Given the description of an element on the screen output the (x, y) to click on. 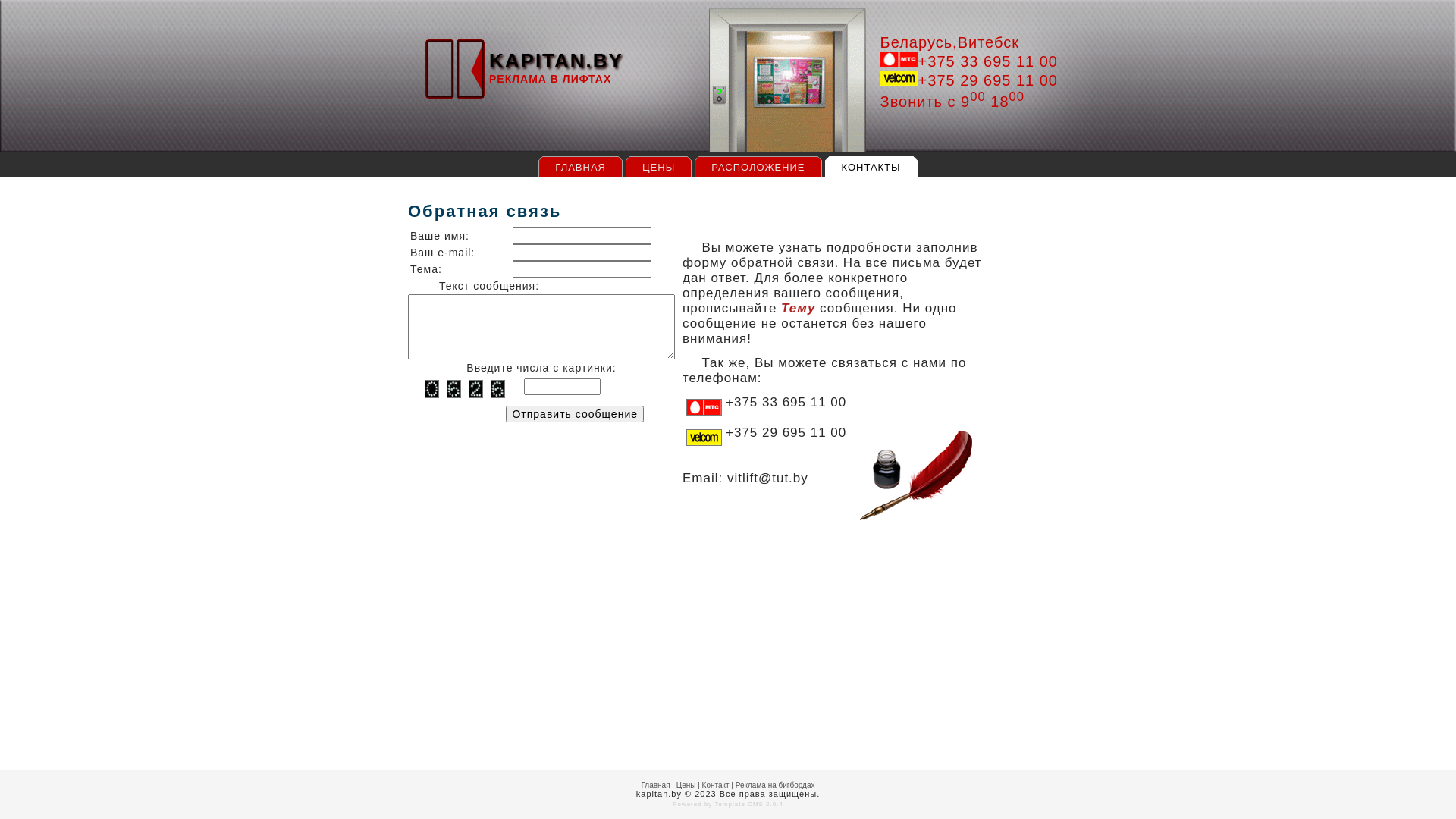
Template CMS Element type: text (738, 803)
